Given the description of an element on the screen output the (x, y) to click on. 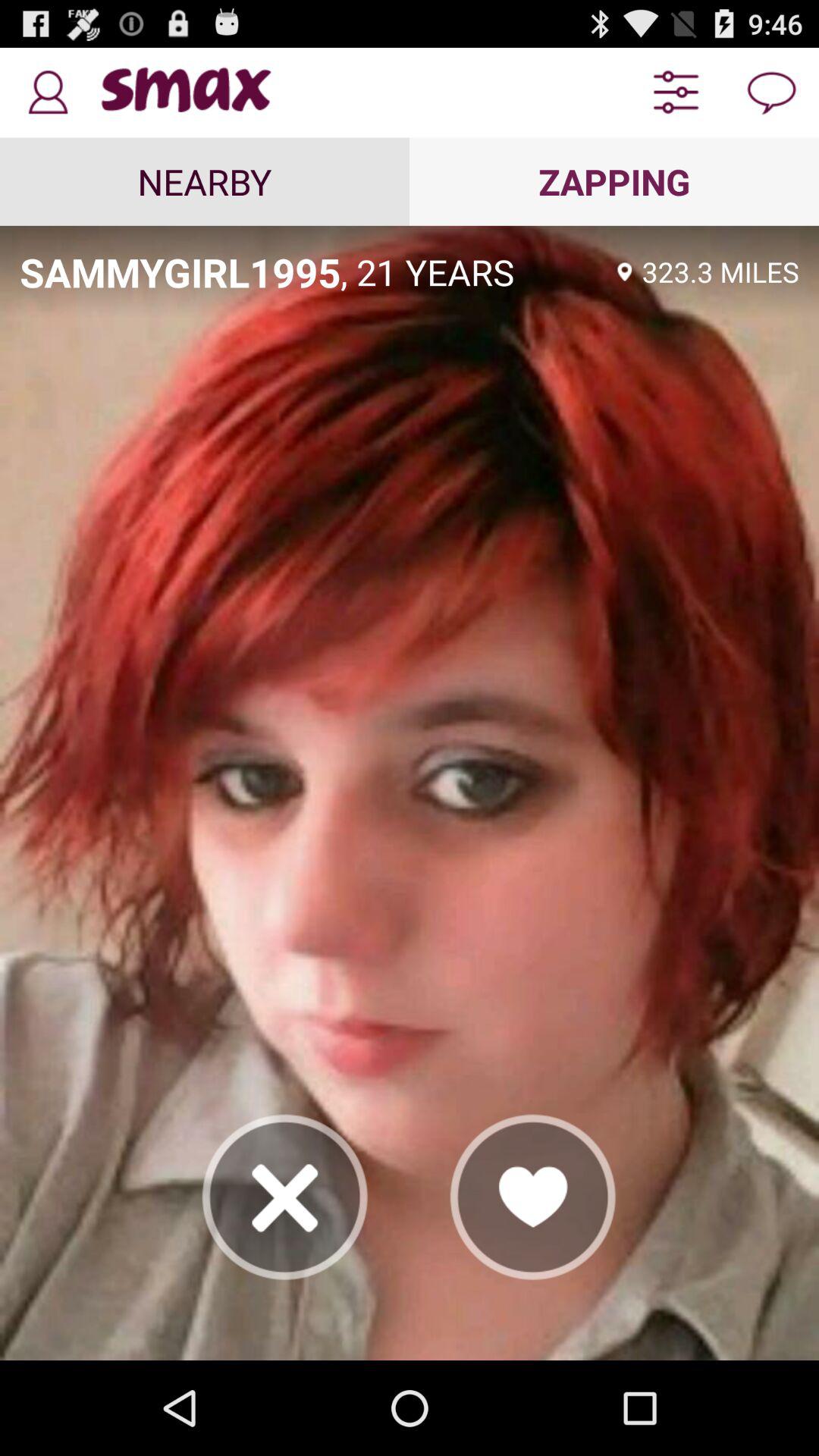
select the icon above the zapping item (675, 92)
